Given the description of an element on the screen output the (x, y) to click on. 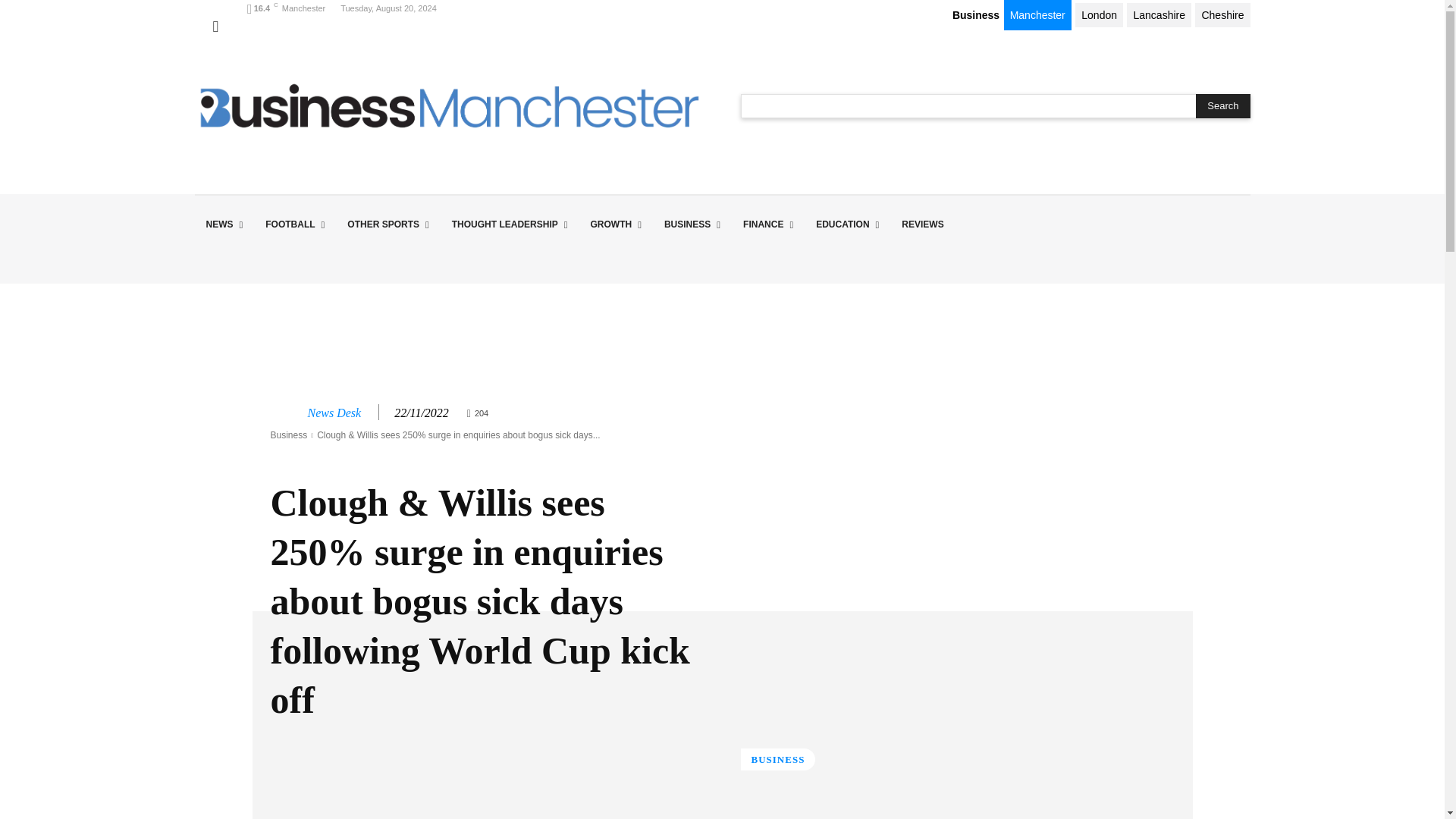
NEWS (223, 224)
Business Manchester Logo (448, 105)
Lancashire (1158, 15)
Search (1222, 105)
London (1098, 15)
Cheshire (1222, 15)
Search (1222, 105)
